Given the description of an element on the screen output the (x, y) to click on. 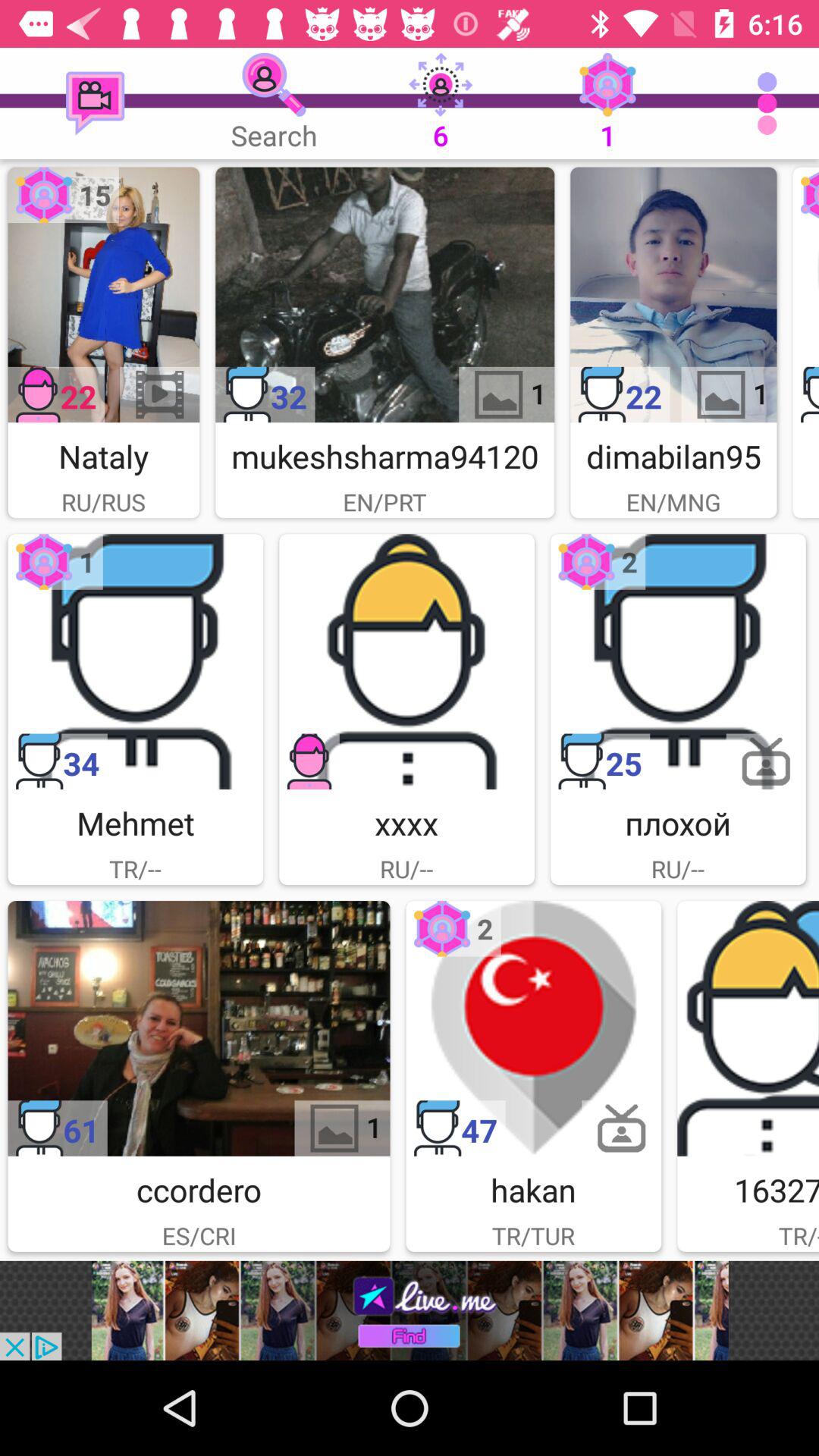
click live me advertisement (409, 1310)
